Given the description of an element on the screen output the (x, y) to click on. 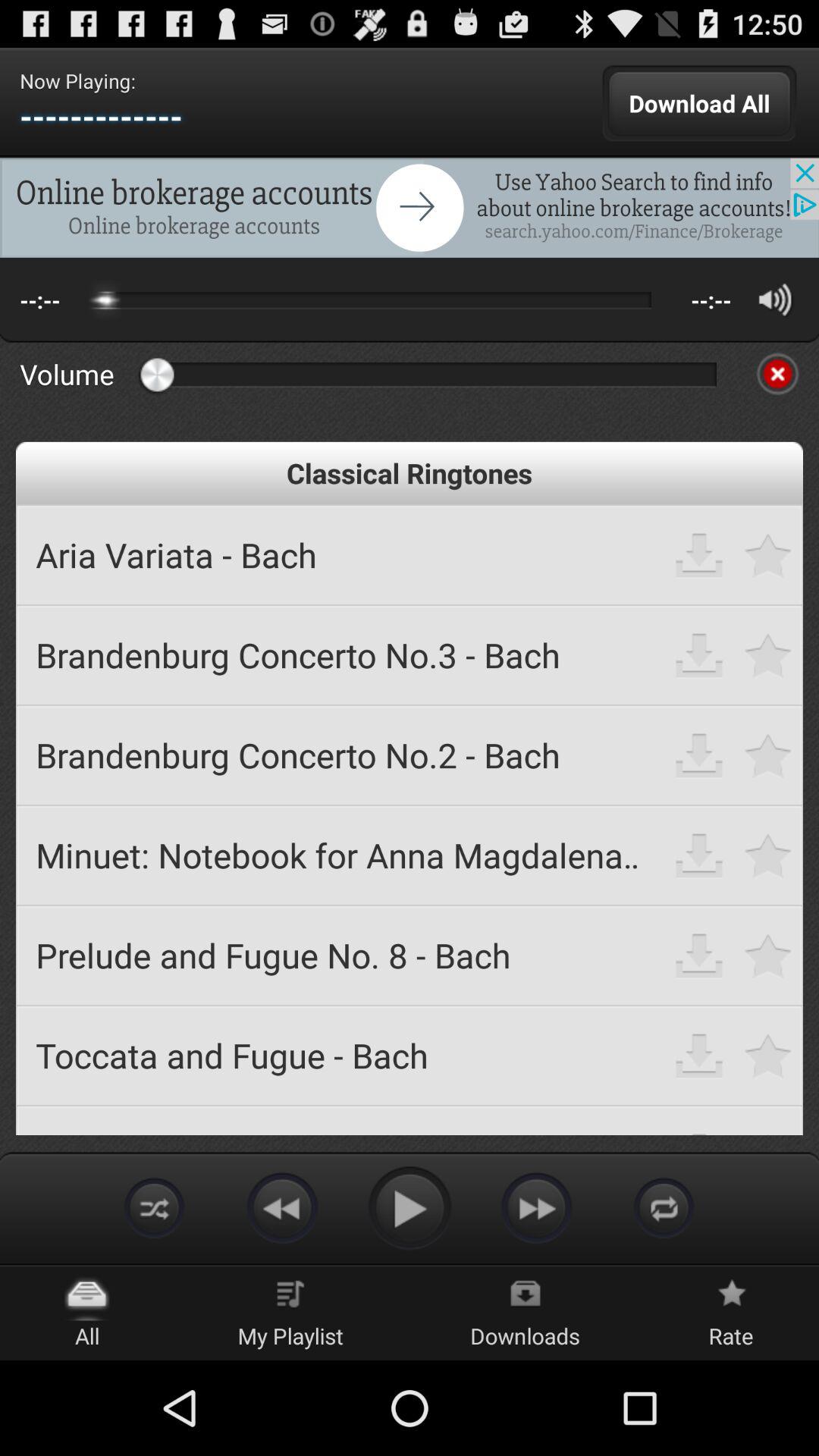
refresh (664, 1207)
